Given the description of an element on the screen output the (x, y) to click on. 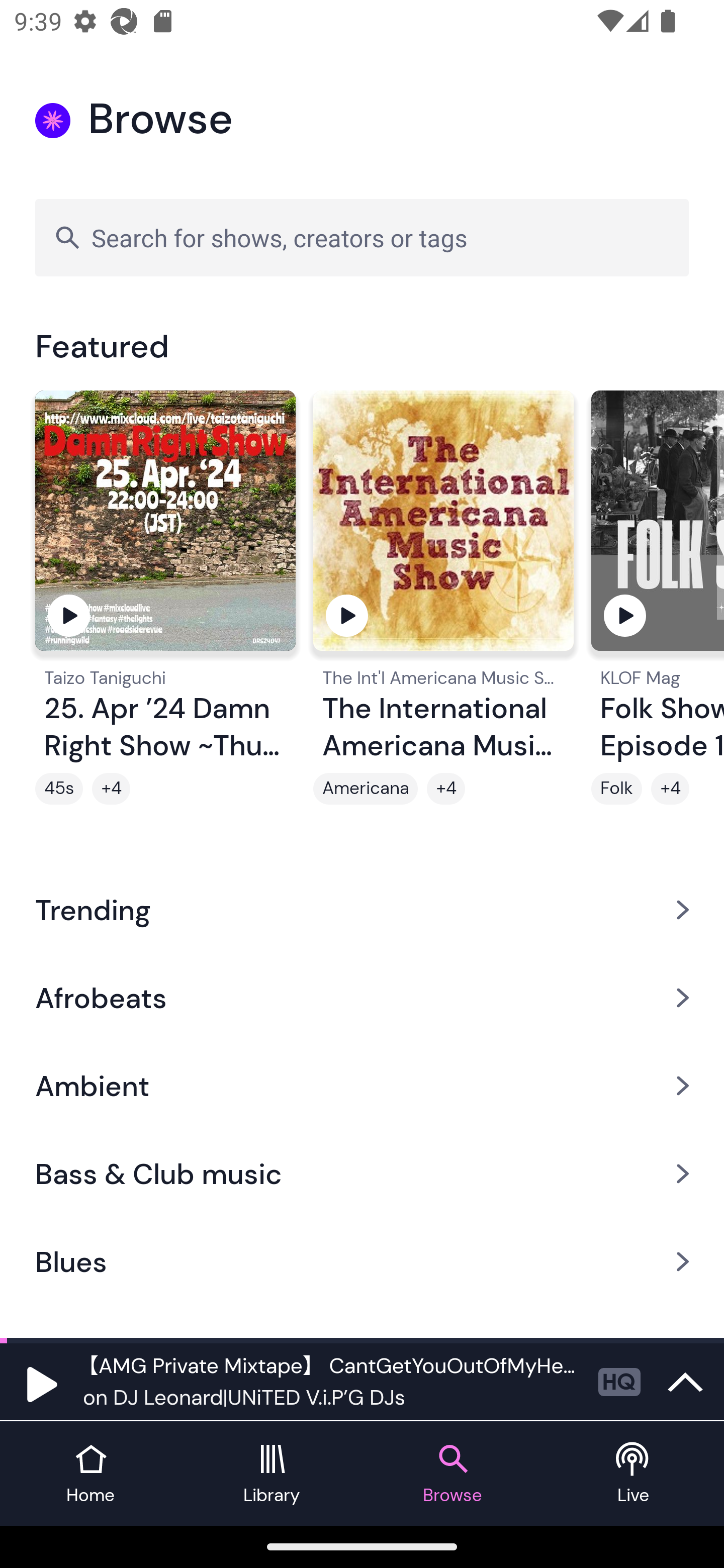
Search for shows, creators or tags (361, 237)
45s (59, 788)
Americana (365, 788)
Folk (616, 788)
Trending (361, 909)
Afrobeats (361, 997)
Ambient (361, 1085)
Bass & Club music (361, 1174)
Blues (361, 1262)
Home tab Home (90, 1473)
Library tab Library (271, 1473)
Browse tab Browse (452, 1473)
Live tab Live (633, 1473)
